Given the description of an element on the screen output the (x, y) to click on. 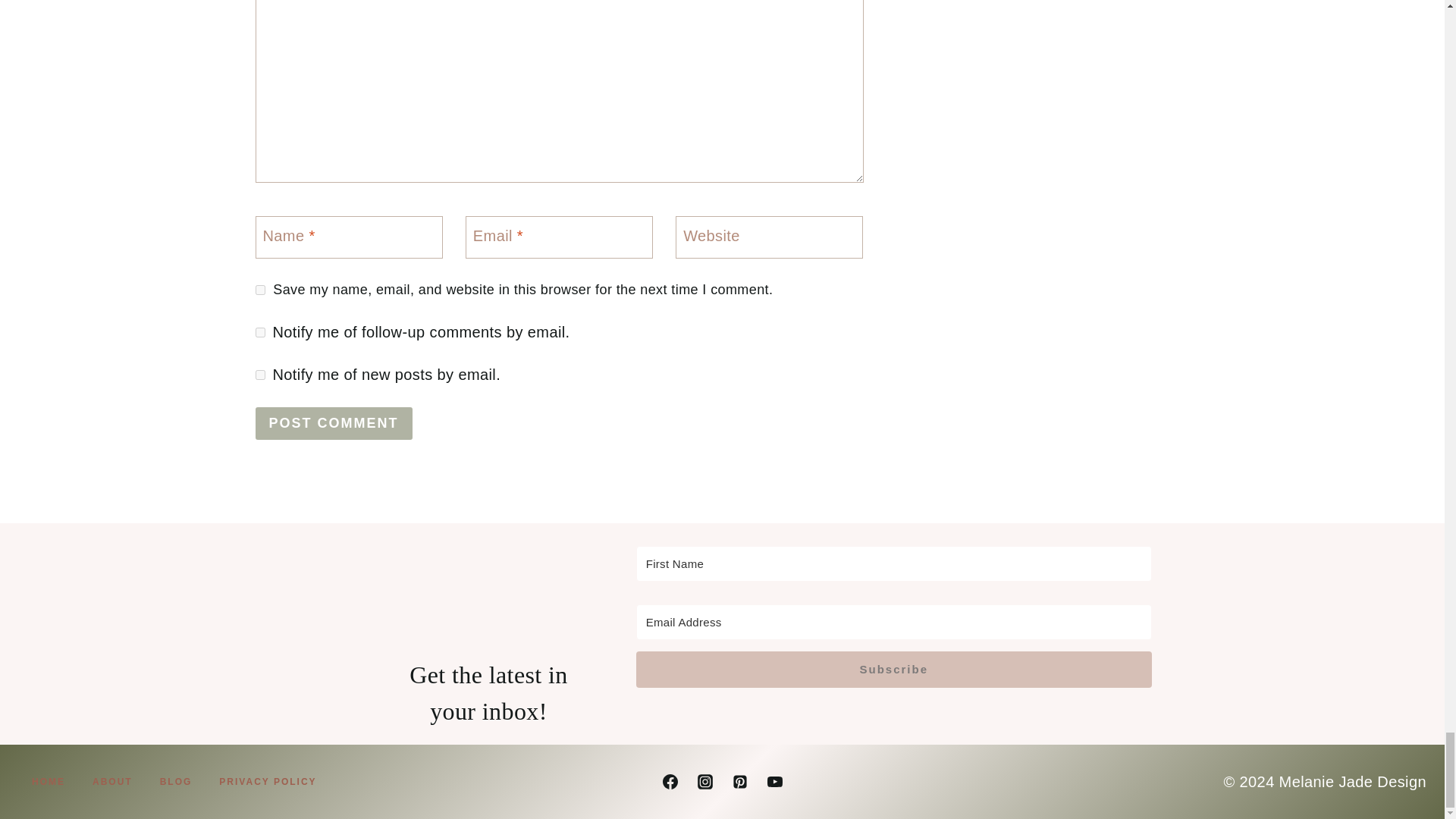
subscribe (259, 332)
subscribe (259, 375)
Post Comment (333, 423)
yes (259, 289)
